Given the description of an element on the screen output the (x, y) to click on. 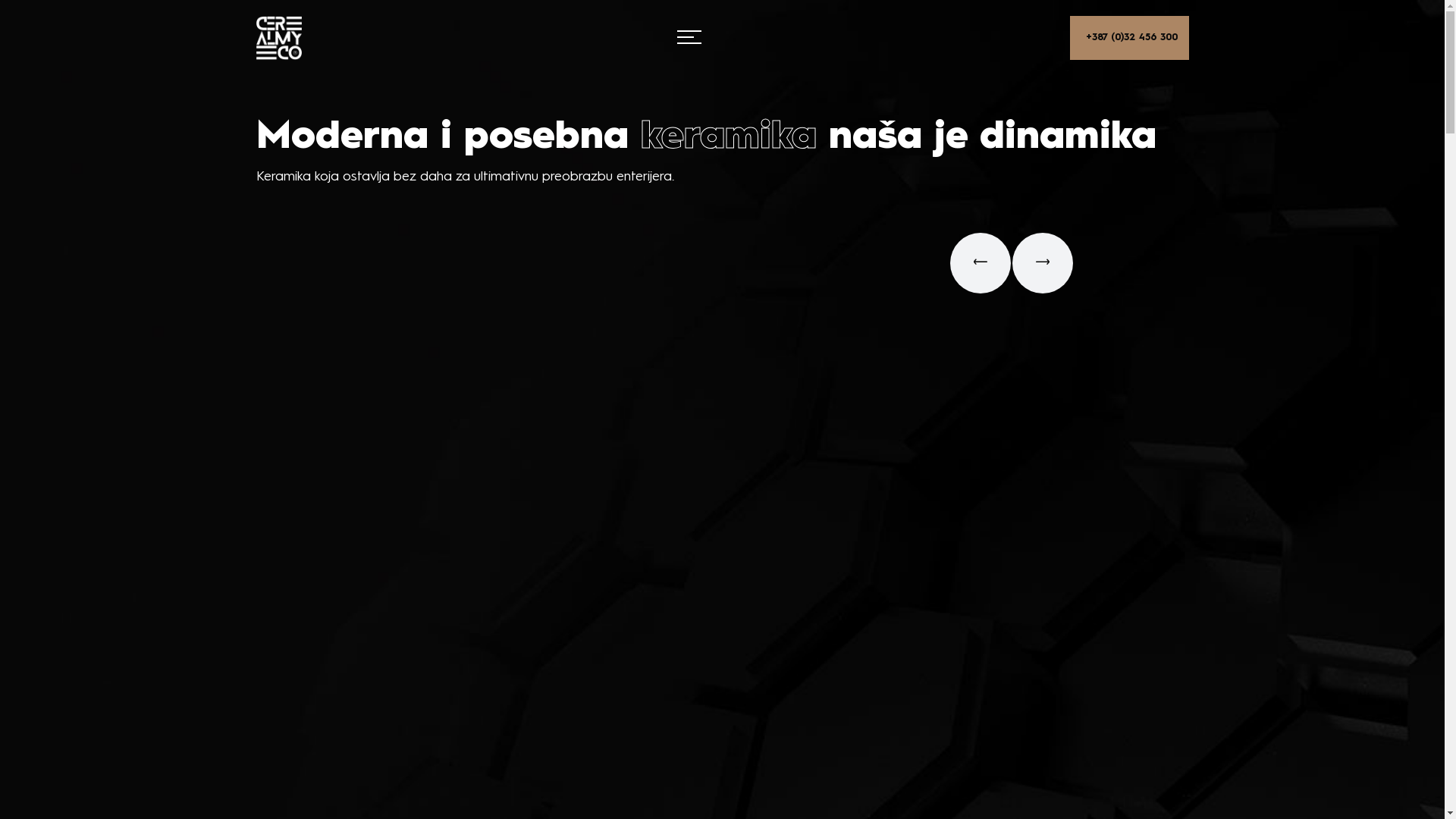
SEARCH Element type: text (721, 446)
+387 (0)32 456 300 Element type: text (1128, 37)
